Given the description of an element on the screen output the (x, y) to click on. 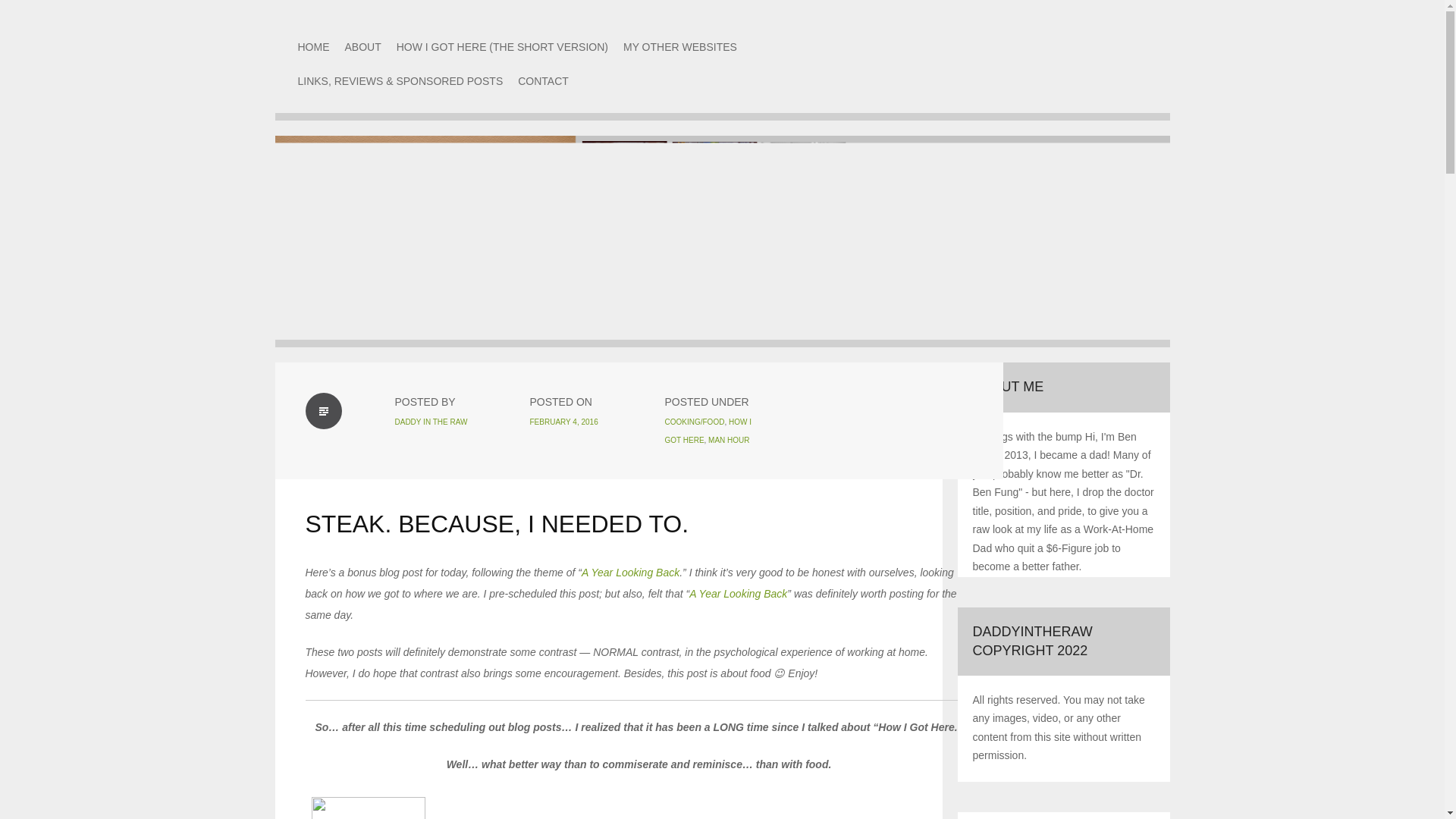
Posts by Daddy In The Raw (430, 421)
A Year Looking Back (737, 593)
MAN HOUR (728, 439)
DADDY IN THE RAW (430, 421)
FEBRUARY 4, 2016 (562, 421)
7:01 am (562, 421)
CONTACT (543, 80)
Skip to content (296, 64)
A Year Looking Back (629, 572)
MY OTHER WEBSITES (679, 47)
Search (30, 10)
Skip to content (296, 64)
HOW I GOT HERE (707, 431)
HOME (312, 47)
ABOUT (362, 47)
